Given the description of an element on the screen output the (x, y) to click on. 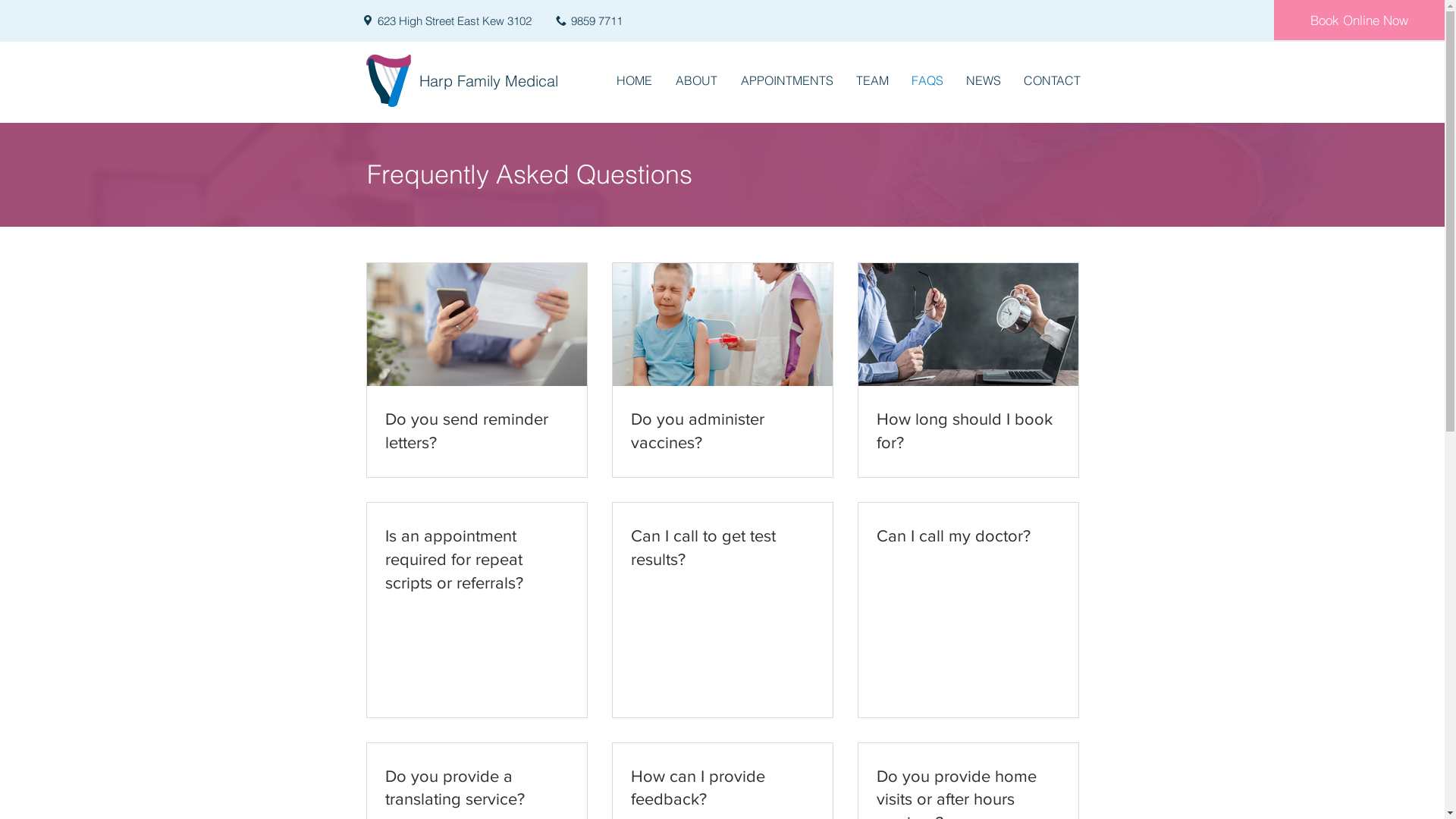
Do you send reminder letters? Element type: text (476, 431)
Book Online Now Element type: text (1359, 20)
CONTACT Element type: text (1051, 80)
APPOINTMENTS Element type: text (786, 80)
Can I call to get test results? Element type: text (722, 547)
Harp Family Medical Element type: text (487, 81)
Can I call my doctor? Element type: text (968, 536)
ABOUT Element type: text (696, 80)
How long should I book for? Element type: text (968, 431)
FAQS Element type: text (926, 80)
How can I provide feedback? Element type: text (722, 787)
Is an appointment required for repeat scripts or referrals? Element type: text (476, 559)
9859 7711 Element type: text (595, 21)
623 High Street East Kew 3102 Element type: text (454, 21)
NEWS Element type: text (982, 80)
HOME Element type: text (634, 80)
Do you administer vaccines? Element type: text (722, 431)
Do you provide a translating service? Element type: text (476, 787)
